Given the description of an element on the screen output the (x, y) to click on. 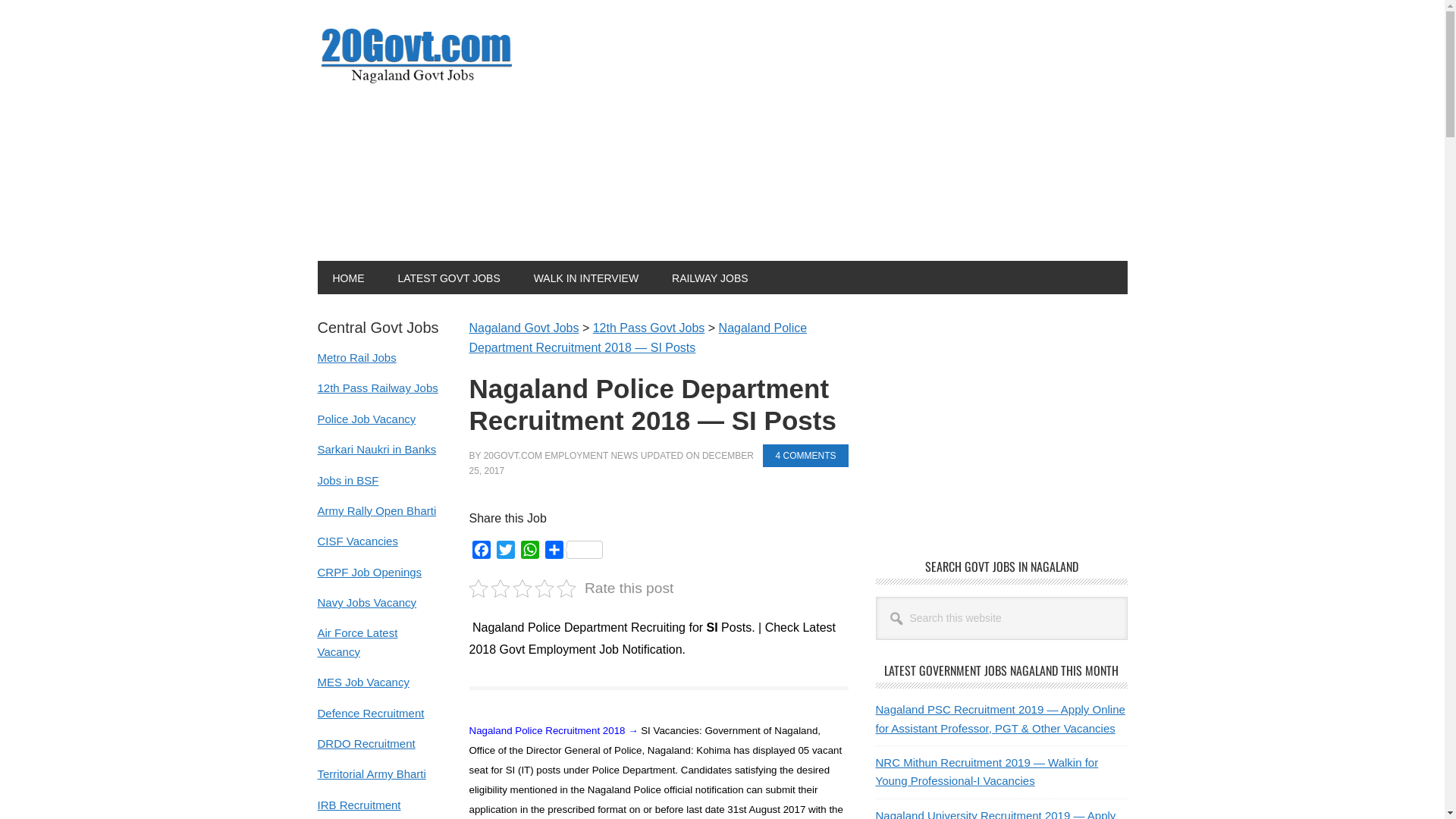
20GOVT.COM Element type: text (512, 455)
CISF Vacancies Element type: text (356, 540)
WALK IN INTERVIEW Element type: text (585, 277)
Facebook Element type: text (480, 552)
Jobs in BSF Element type: text (347, 479)
NAGALAND GOVT JOBS Element type: text (418, 54)
Defence Recruitment Element type: text (369, 712)
Advertisement Element type: hover (874, 130)
12th Pass Govt Jobs Element type: text (649, 327)
RAILWAY JOBS Element type: text (709, 277)
Sarkari Naukri in Banks Element type: text (376, 448)
HOME Element type: text (347, 277)
Territorial Army Bharti Element type: text (370, 773)
CRPF Job Openings Element type: text (368, 571)
MES Job Vacancy Element type: text (362, 681)
4 COMMENTS Element type: text (804, 455)
12th Pass Railway Jobs Element type: text (376, 387)
DRDO Recruitment Element type: text (365, 743)
Nagaland Govt Jobs Element type: text (523, 327)
Share Element type: text (573, 552)
Advertisement Element type: hover (1002, 424)
Search Element type: text (1126, 596)
Navy Jobs Vacancy Element type: text (366, 602)
Police Job Vacancy Element type: text (365, 418)
IRB Recruitment Element type: text (358, 804)
Skip to primary navigation Element type: text (0, 0)
Twitter Element type: text (504, 552)
LATEST GOVT JOBS Element type: text (448, 277)
Air Force Latest Vacancy Element type: text (356, 641)
Metro Rail Jobs Element type: text (355, 357)
Army Rally Open Bharti Element type: text (376, 510)
WhatsApp Element type: text (529, 552)
